Given the description of an element on the screen output the (x, y) to click on. 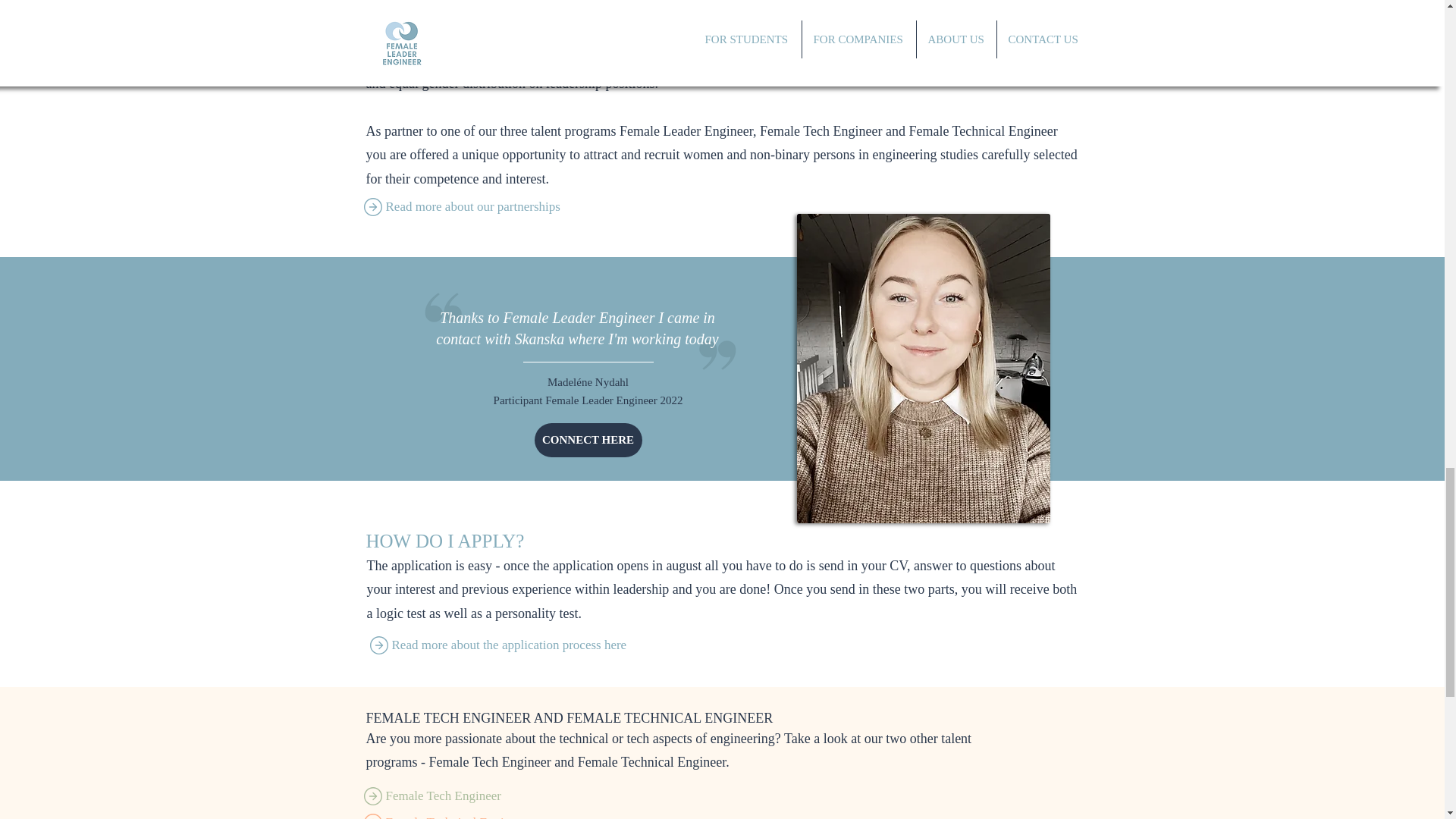
Read more about our partnerships (517, 207)
Female Tech Engineer (517, 795)
CONNECT HERE (588, 440)
Read more about the application process here (523, 645)
Female Technical Engineer (517, 814)
